Given the description of an element on the screen output the (x, y) to click on. 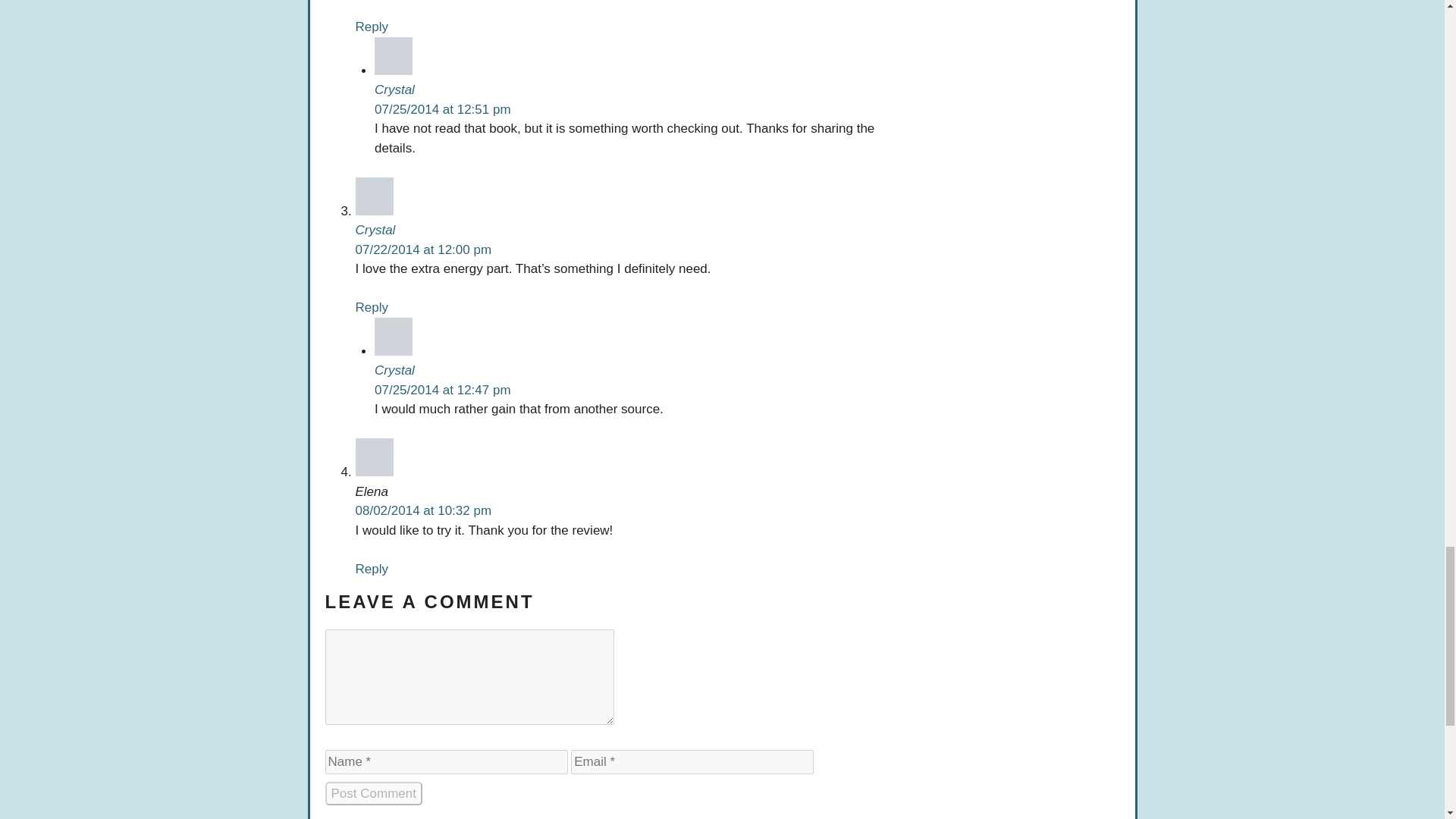
Post Comment (373, 793)
